Given the description of an element on the screen output the (x, y) to click on. 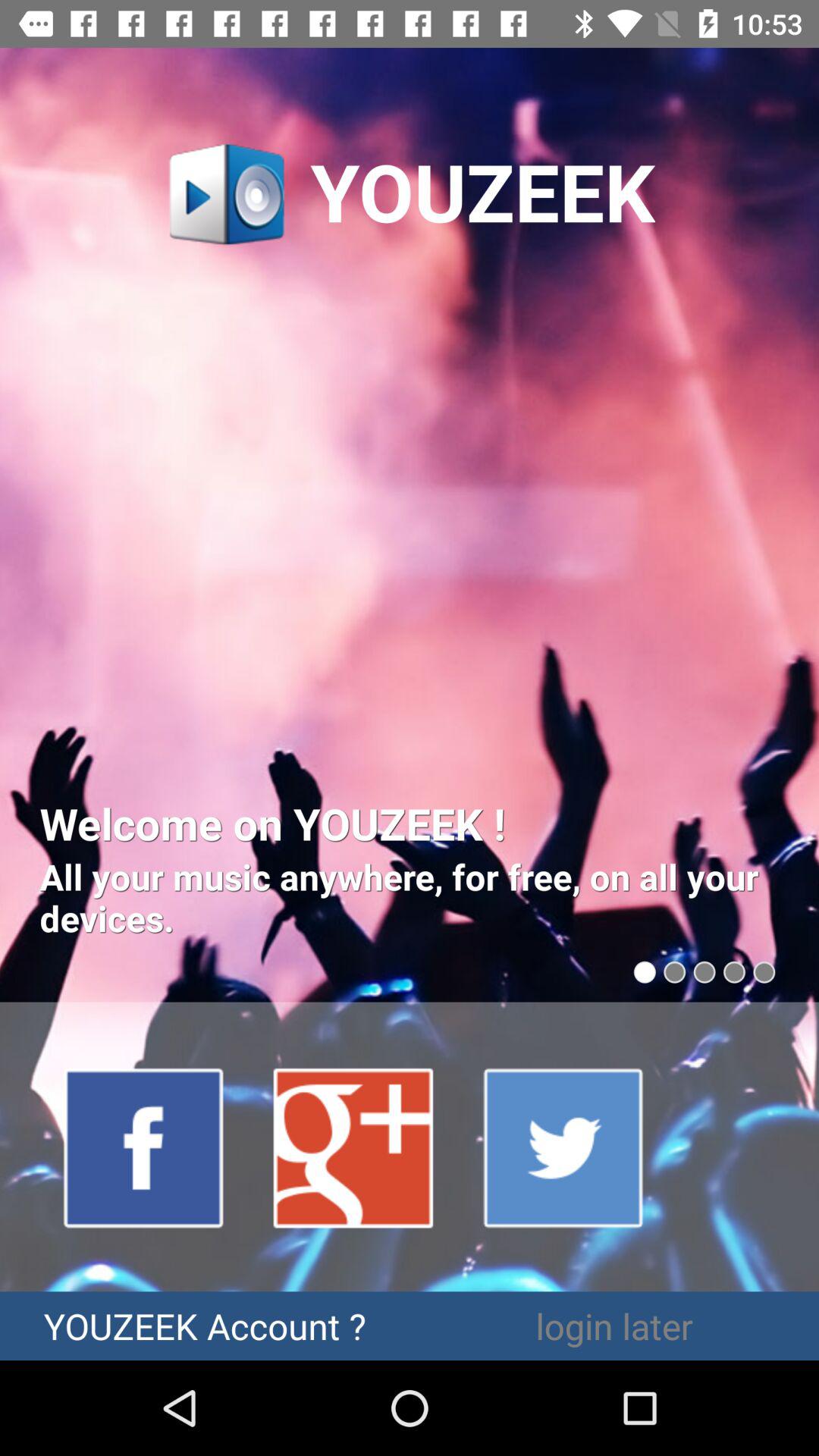
launch the login later icon (614, 1325)
